Given the description of an element on the screen output the (x, y) to click on. 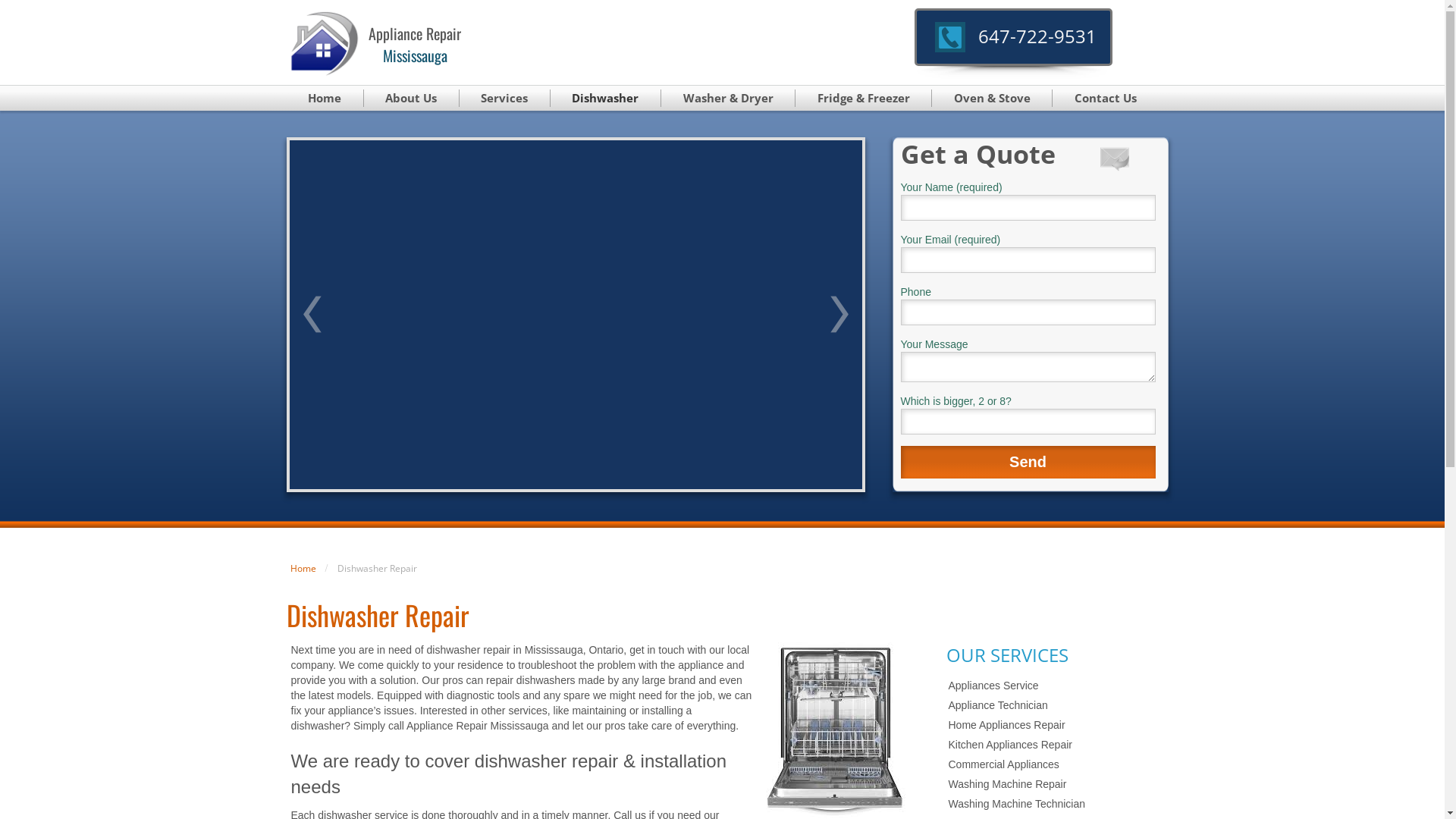
Contact Us Element type: text (1104, 97)
Services Element type: text (504, 97)
Washing Machine Technician Element type: text (1052, 803)
Washer & Dryer Element type: text (728, 97)
Fridge & Freezer Element type: text (863, 97)
Send Element type: text (1027, 461)
Home Appliances Repair Element type: text (1052, 724)
Dishwasher Element type: text (605, 97)
Appliances Service Element type: text (1052, 685)
Oven & Stove Element type: text (991, 97)
Home Element type: text (325, 97)
Commercial Appliances Element type: text (1052, 764)
Washing Machine Repair Element type: text (1052, 783)
About Us Element type: text (411, 97)
647-722-9531 Element type: text (1037, 35)
Kitchen Appliances Repair Element type: text (1052, 744)
Home Element type: text (302, 567)
Appliance Technician Element type: text (1052, 705)
